Given the description of an element on the screen output the (x, y) to click on. 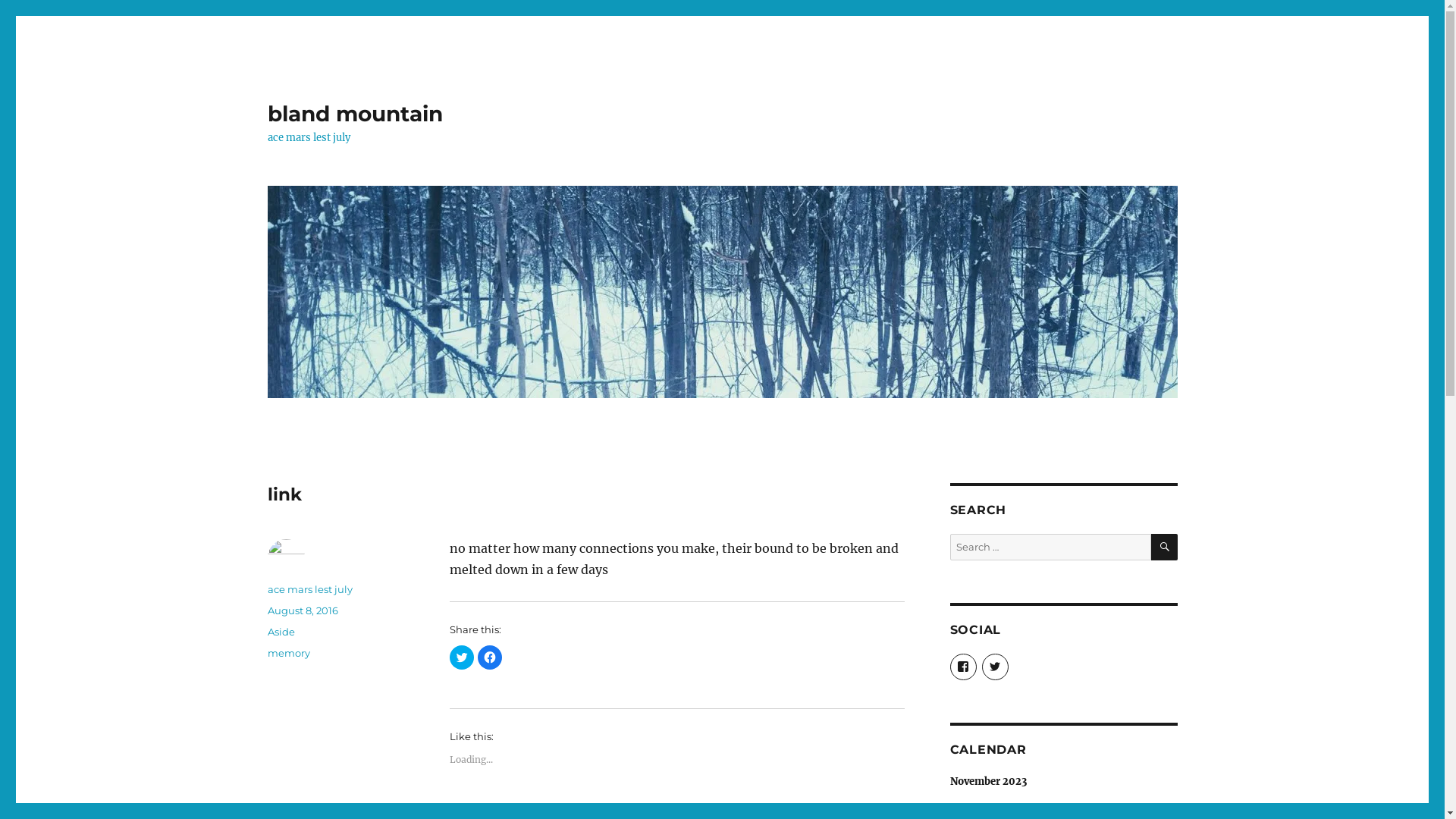
Aside Element type: text (280, 631)
SEARCH Element type: text (1164, 546)
Click to share on Facebook (Opens in new window) Element type: text (489, 657)
ace mars lest july Element type: text (308, 589)
memory Element type: text (287, 652)
Click to share on Twitter (Opens in new window) Element type: text (460, 657)
bland mountain Element type: text (354, 113)
August 8, 2016 Element type: text (301, 610)
